Given the description of an element on the screen output the (x, y) to click on. 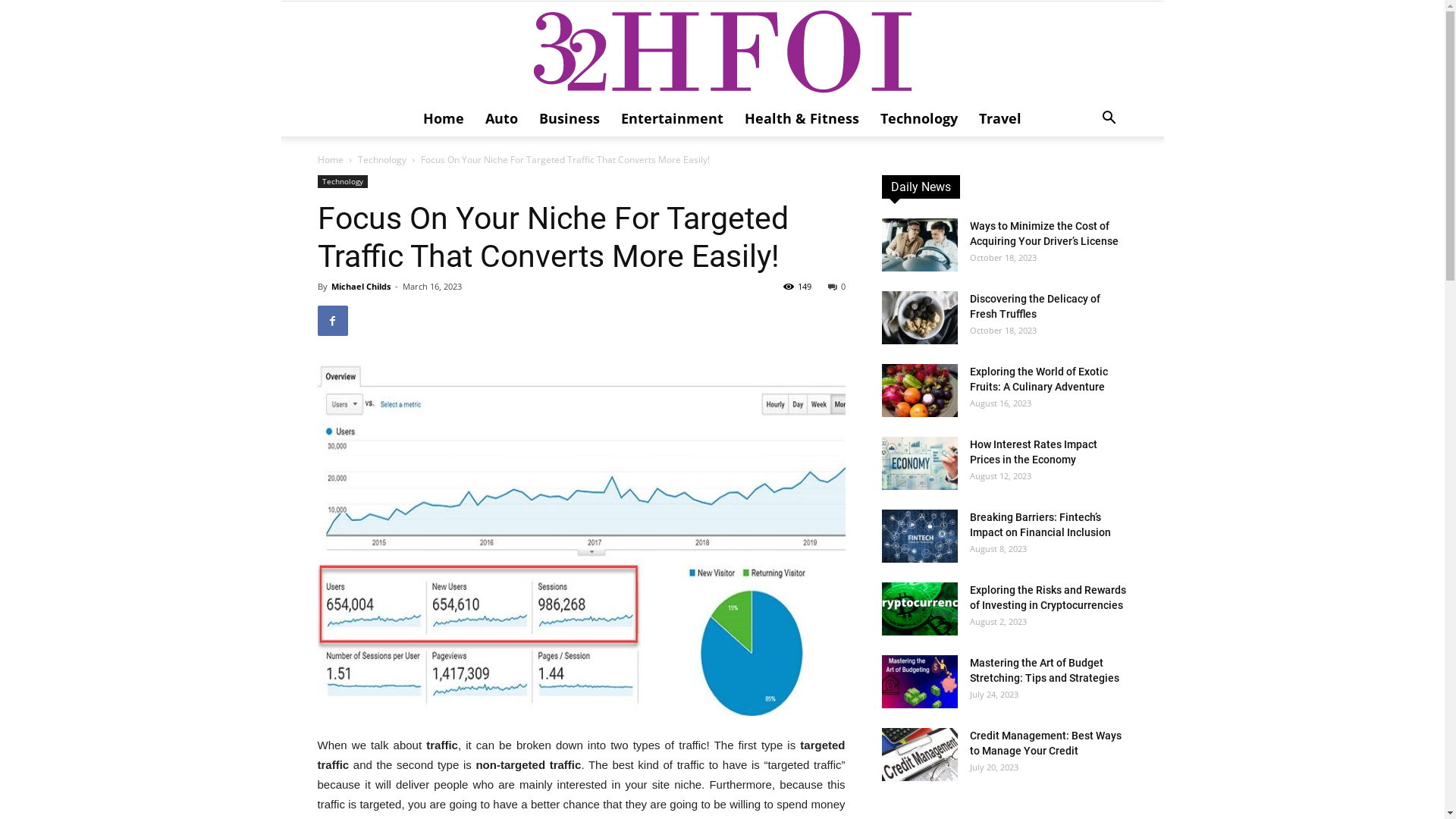
Business Element type: text (569, 118)
Technology Element type: text (918, 118)
Search Element type: text (1085, 178)
Mastering the Art of Budget Stretching: Tips and Strategies Element type: hover (919, 681)
Michael Childs Element type: text (359, 285)
Auto Element type: text (501, 118)
Entertainment Element type: text (672, 118)
Exploring the World of Exotic Fruits: A Culinary Adventure Element type: text (1038, 378)
Technology Element type: text (381, 159)
Home Element type: text (443, 118)
0 Element type: text (836, 285)
website traffic Element type: hover (580, 539)
Credit Management: Best Ways to Manage Your Credit Element type: text (1044, 742)
Travel Element type: text (1000, 118)
Technology Element type: text (341, 181)
Credit Management: Best Ways to Manage Your Credit Element type: hover (919, 754)
Discovering the Delicacy of Fresh Truffles Element type: text (1034, 306)
Home Element type: text (329, 159)
Mastering the Art of Budget Stretching: Tips and Strategies Element type: text (1043, 670)
How Interest Rates Impact Prices in the Economy Element type: hover (919, 462)
Discovering the Delicacy of Fresh Truffles Element type: hover (919, 317)
How Interest Rates Impact Prices in the Economy Element type: text (1032, 451)
Exploring the World of Exotic Fruits: A Culinary Adventure Element type: hover (919, 390)
Health & Fitness Element type: text (801, 118)
